Given the description of an element on the screen output the (x, y) to click on. 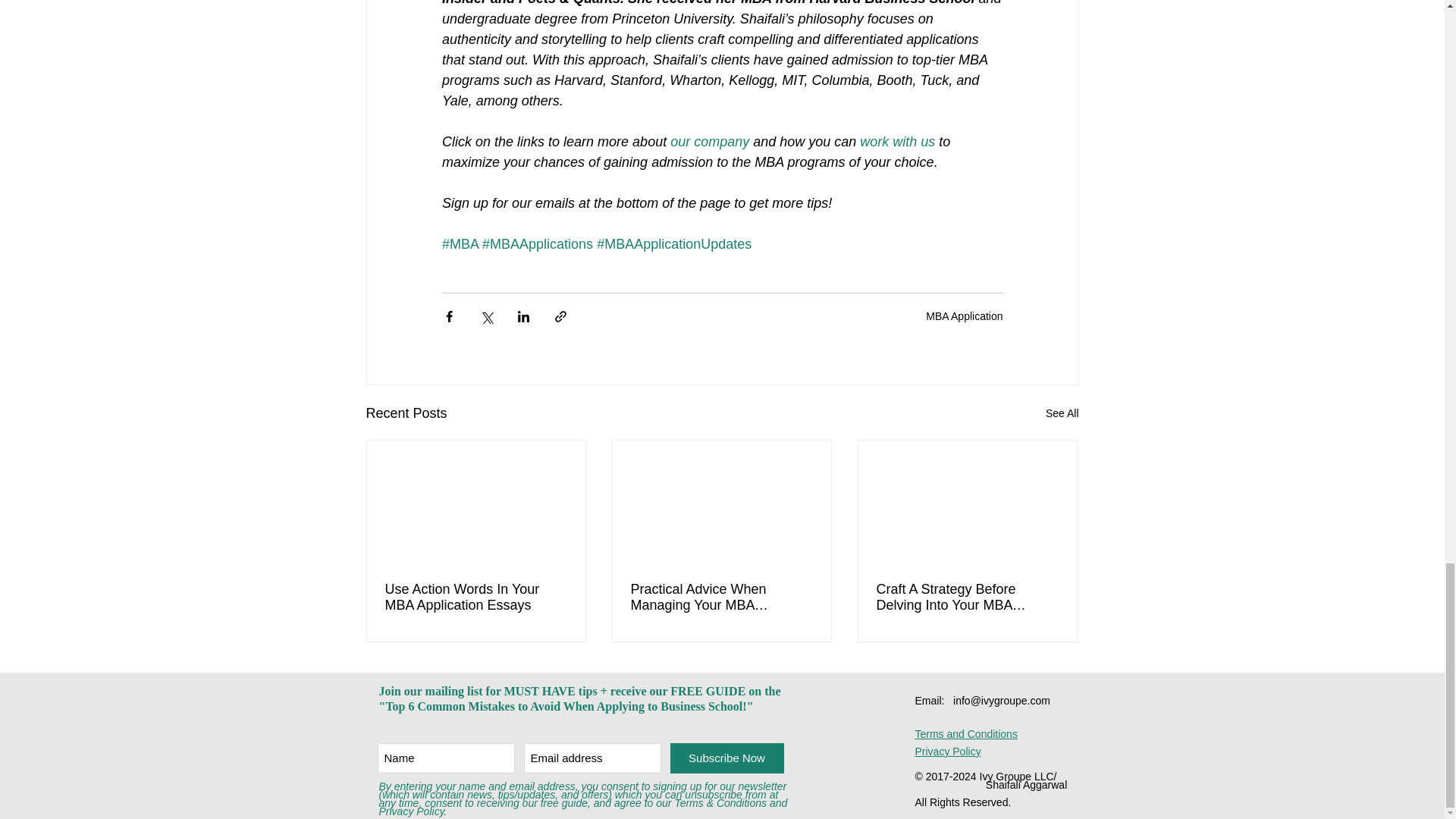
our company (709, 141)
work with us (897, 141)
